Given the description of an element on the screen output the (x, y) to click on. 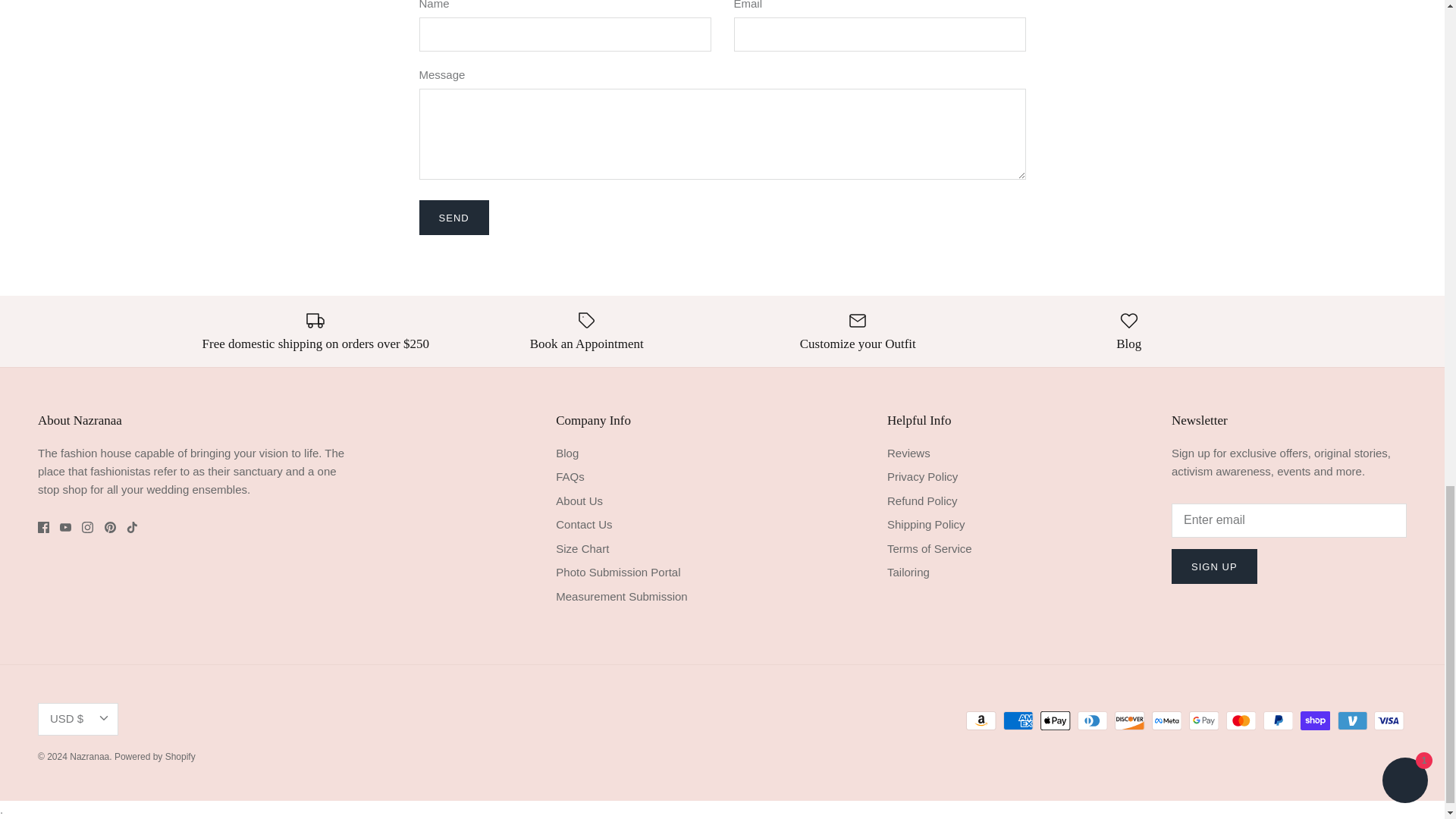
Facebook (43, 527)
PayPal (1277, 720)
Youtube (65, 527)
Apple Pay (1055, 720)
Instagram (87, 527)
Mastercard (1240, 720)
American Express (1018, 720)
Google Pay (1203, 720)
Discover (1129, 720)
Amazon (980, 720)
Send (453, 217)
Shop Pay (1315, 720)
Label (586, 321)
Pinterest (110, 527)
Diners Club (1092, 720)
